Given the description of an element on the screen output the (x, y) to click on. 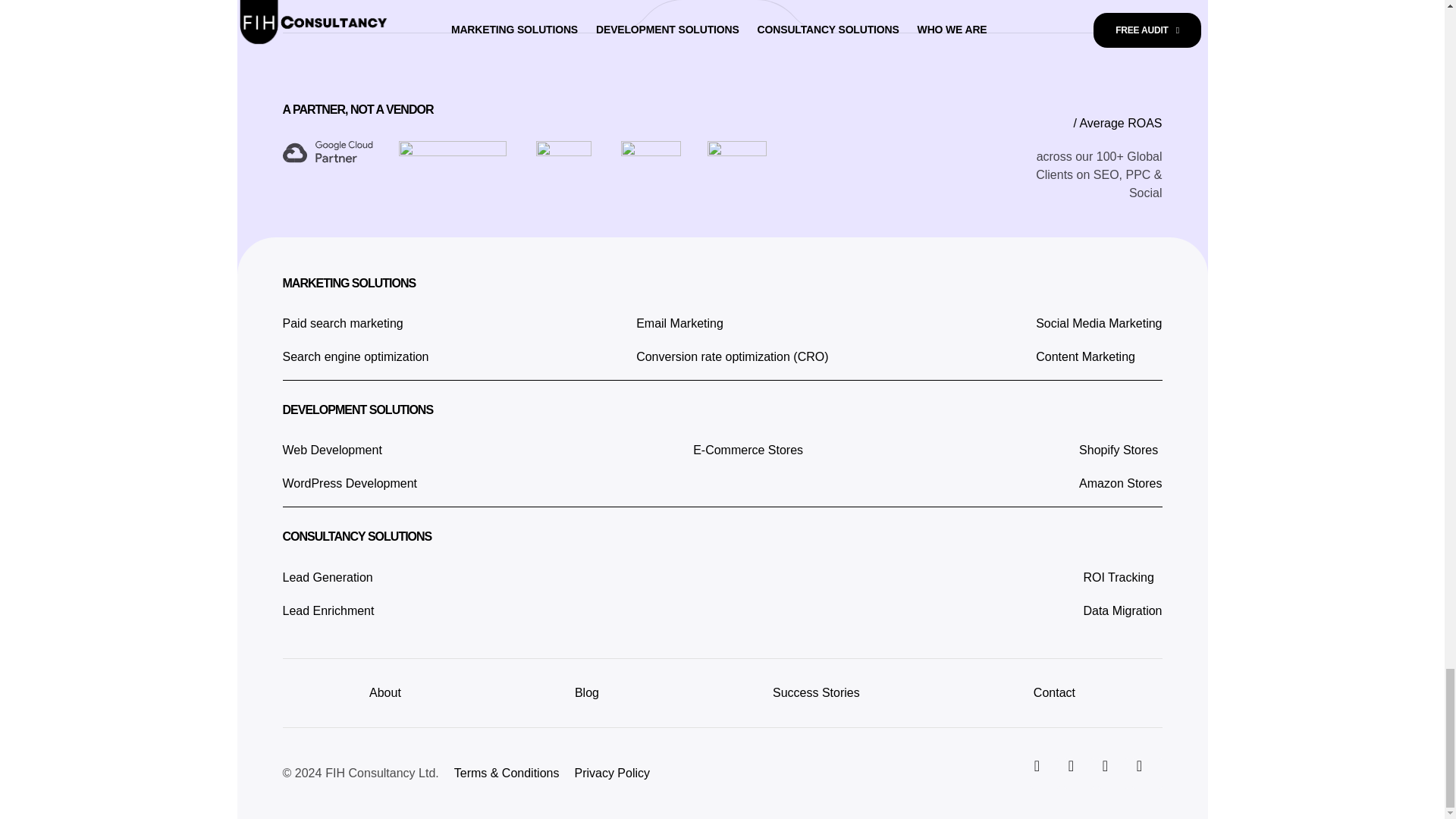
E-Commerce Stores (1119, 467)
